Given the description of an element on the screen output the (x, y) to click on. 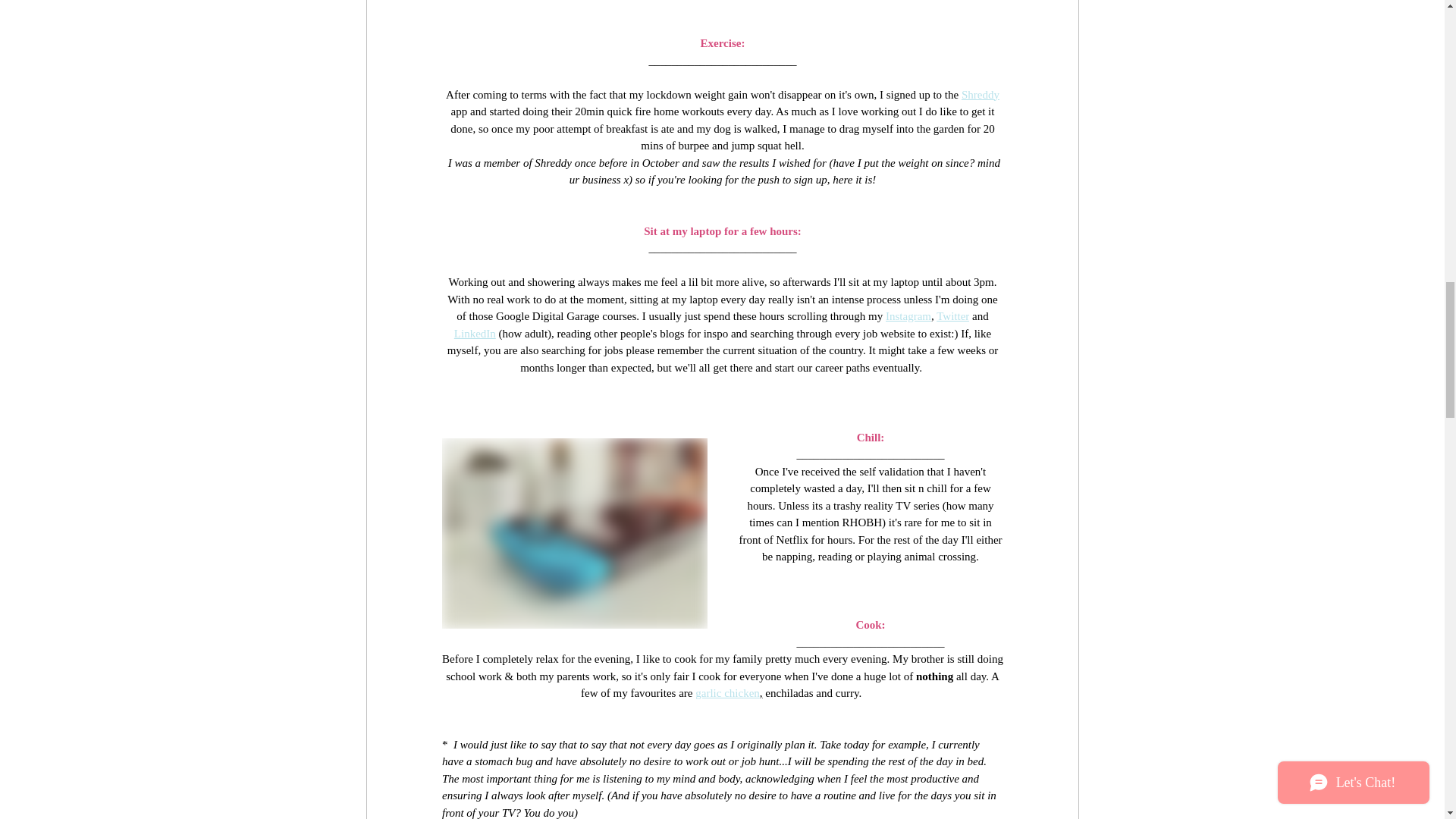
Shreddy (979, 93)
Instagram (907, 316)
LinkedIn (473, 333)
garlic chicken (727, 693)
Twitter (952, 316)
